Given the description of an element on the screen output the (x, y) to click on. 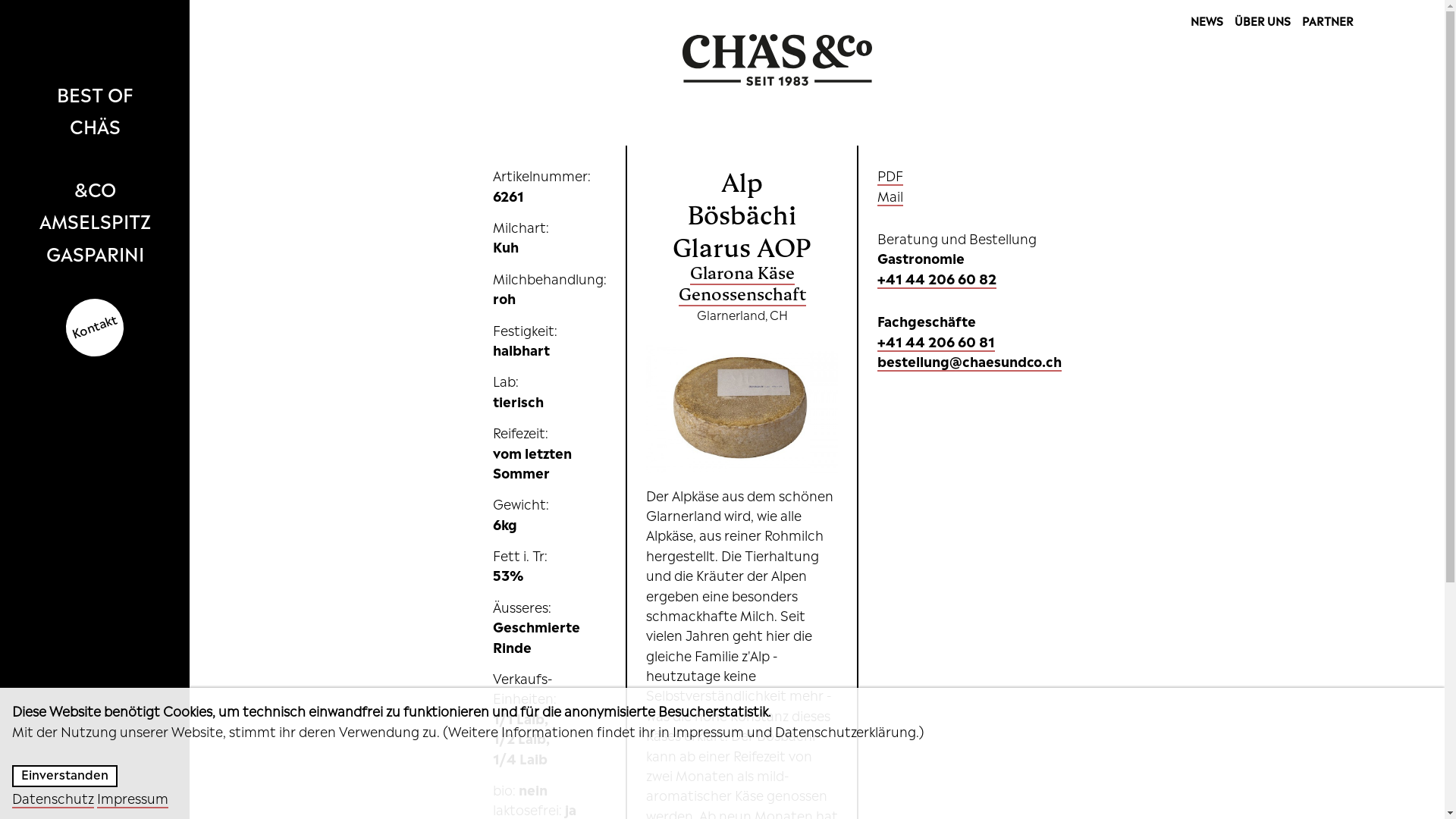
BEST OF Element type: text (94, 93)
Einverstanden Element type: text (64, 776)
bestellung@chaesundco.ch Element type: text (969, 360)
AMSELSPITZ Element type: text (94, 219)
PDF Element type: text (890, 174)
GASPARINI Element type: text (94, 252)
Mail Element type: text (890, 195)
&CO Element type: text (94, 187)
Datenschutz Element type: text (53, 797)
+41 44 206 60 82 Element type: text (936, 277)
PARTNER Element type: text (1327, 20)
+41 44 206 60 81 Element type: text (935, 340)
Kontakt Element type: text (86, 318)
NEWS Element type: text (1206, 20)
Impressum Element type: text (132, 797)
Kontakt Element type: text (94, 325)
